Given the description of an element on the screen output the (x, y) to click on. 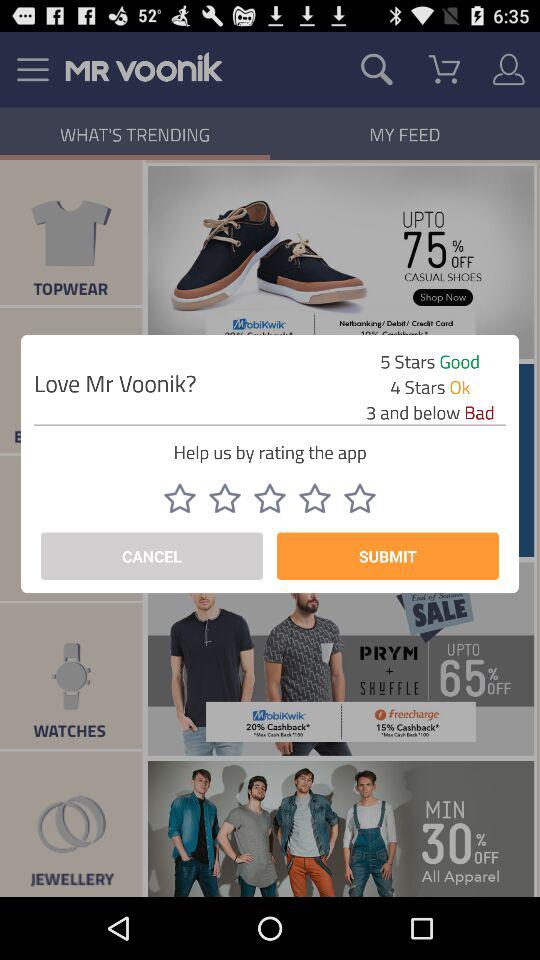
clique aqui para dar uma avaliao ruim (360, 498)
